Given the description of an element on the screen output the (x, y) to click on. 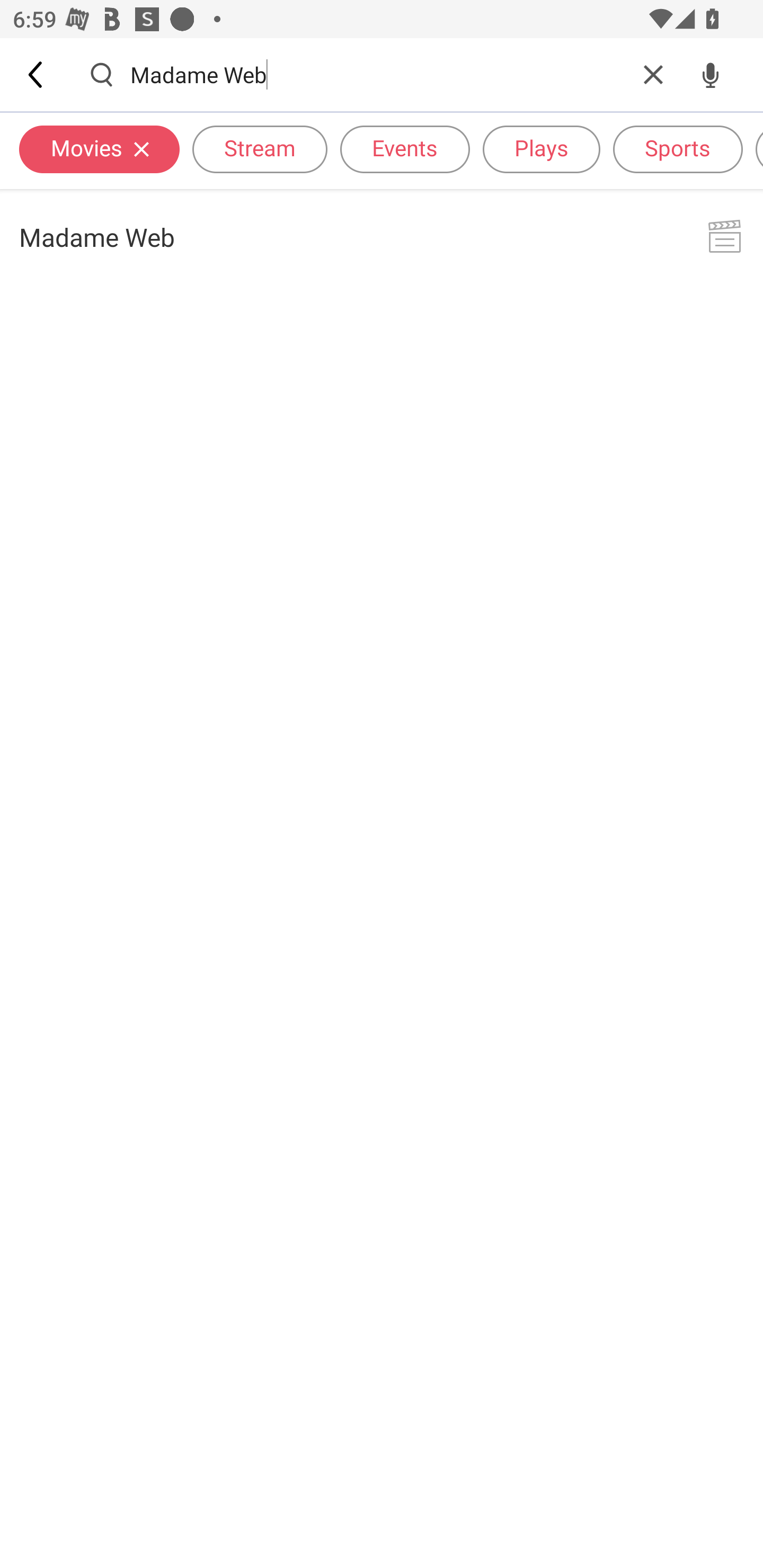
Back (36, 74)
Madame Web (377, 74)
Clear (653, 74)
Movies Clear (99, 148)
Stream (259, 148)
Events (405, 148)
Plays (541, 148)
Sports (677, 148)
Madame Web (381, 236)
